Given the description of an element on the screen output the (x, y) to click on. 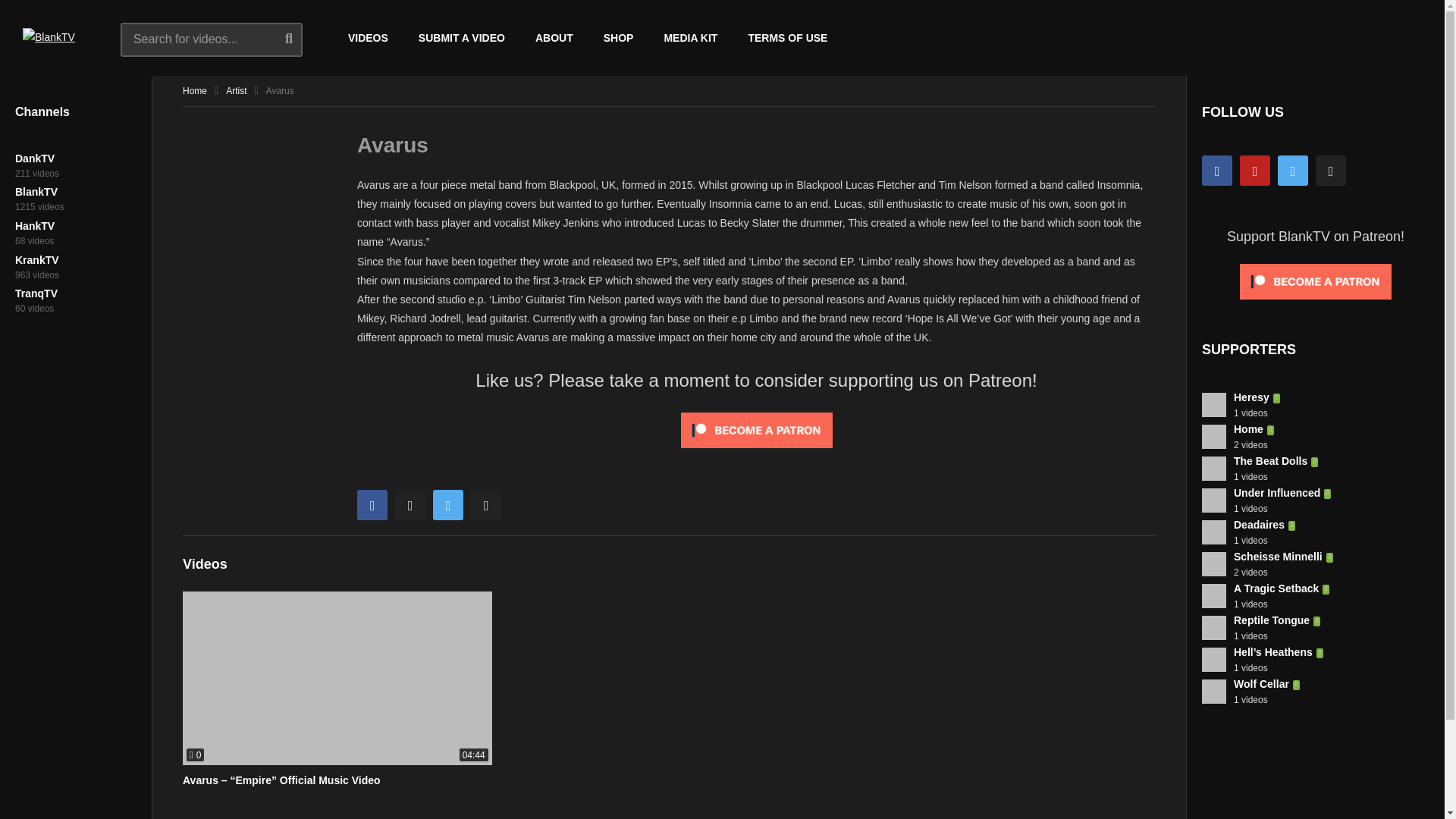
SEARCH (300, 37)
Artist (235, 90)
DankTV (34, 158)
BlankTV (36, 191)
SUBMIT A VIDEO (461, 38)
YouTube (1254, 170)
HankTV (34, 225)
TranqTV (36, 293)
Instagram (409, 504)
website (485, 504)
Facebook (1216, 170)
ABOUT (553, 38)
TERMS OF USE (787, 38)
MEDIA KIT (689, 38)
Home (194, 90)
